Given the description of an element on the screen output the (x, y) to click on. 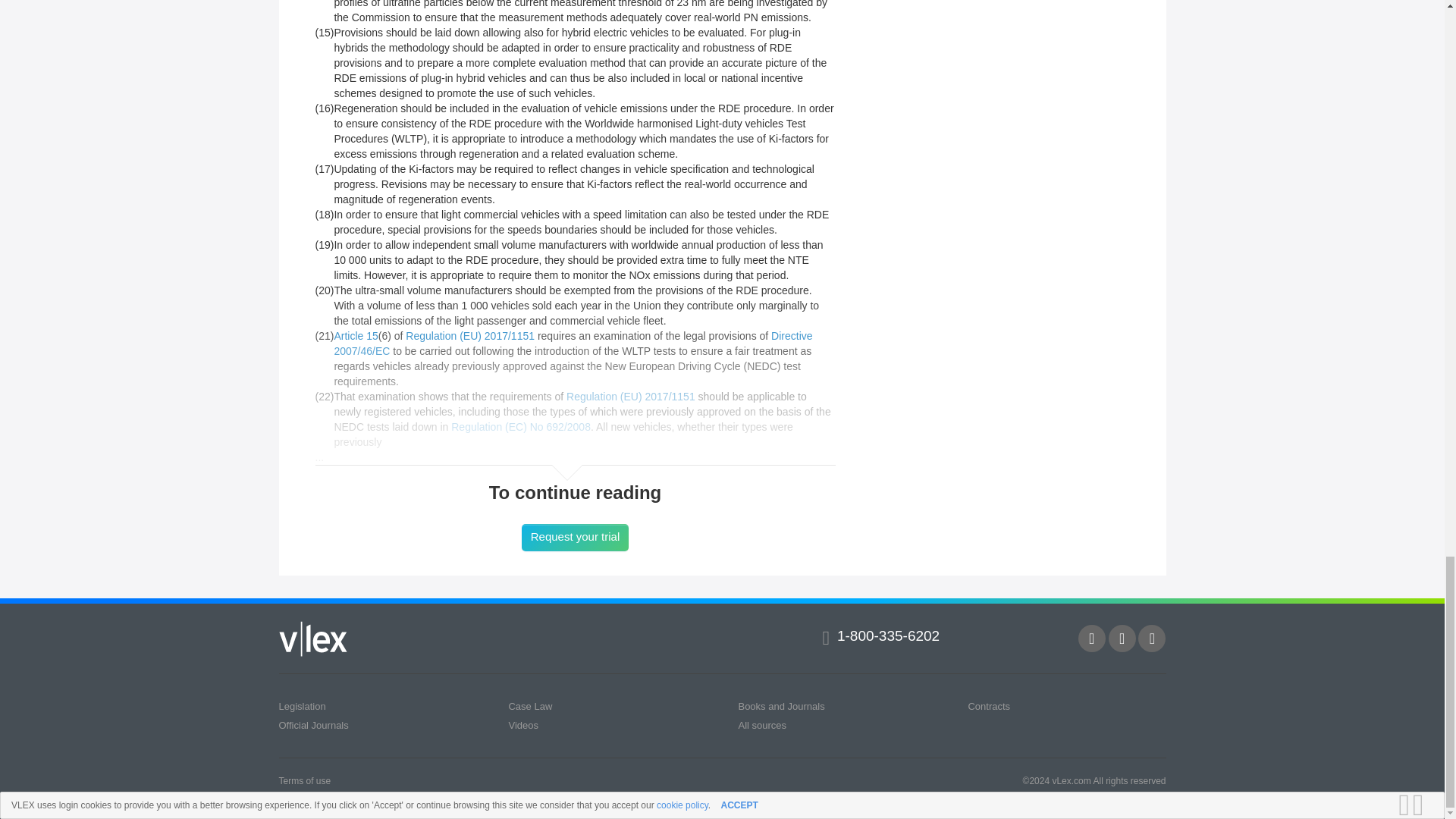
Videos (523, 725)
Books and Journals (781, 706)
Article 15 (355, 336)
vLex (313, 638)
Legislation (302, 706)
All sources (762, 725)
Contracts (989, 706)
Terms of use (305, 780)
Official Journals (314, 725)
Case Law (529, 706)
Legislation (302, 706)
